Given the description of an element on the screen output the (x, y) to click on. 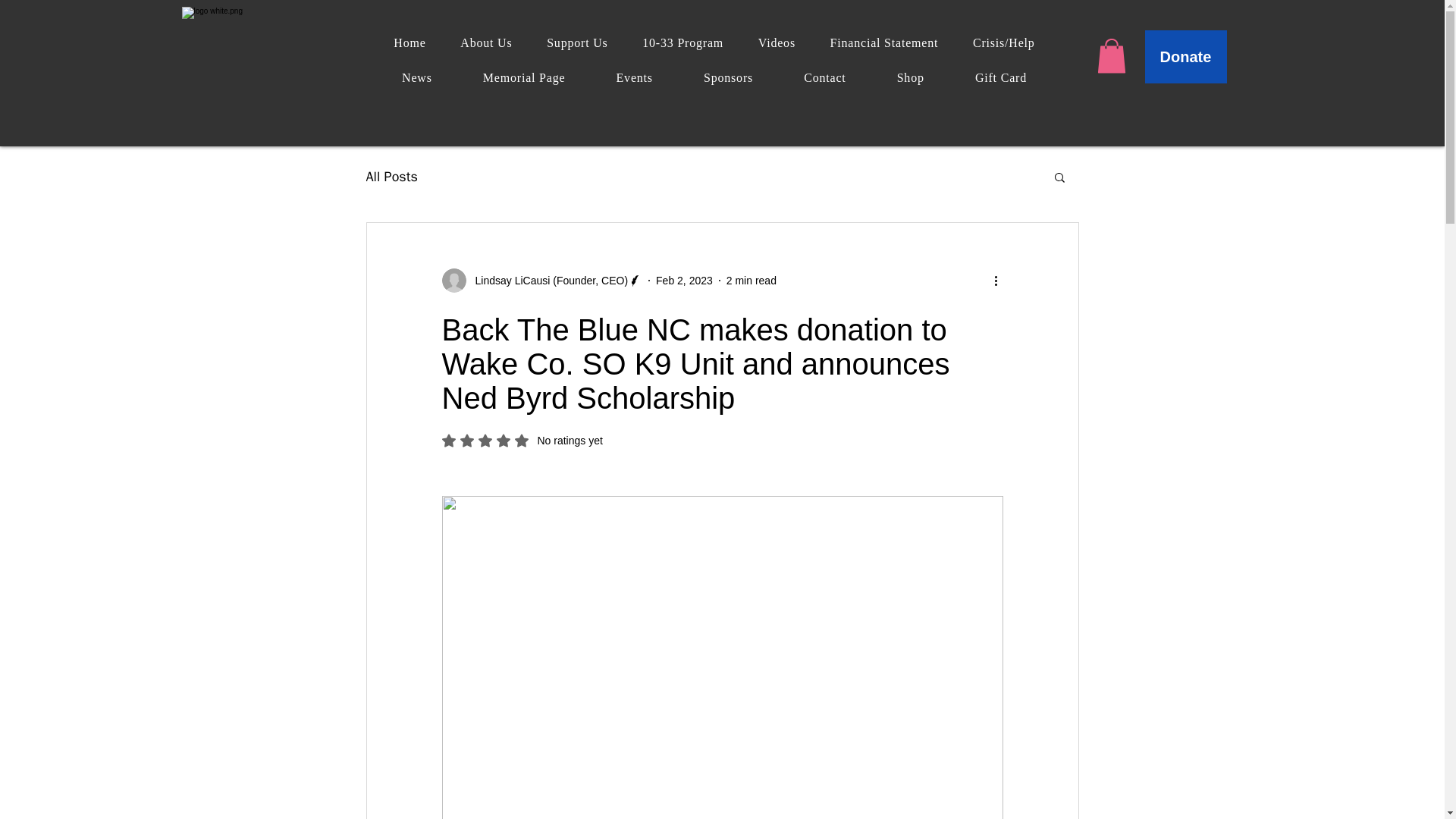
Gift Card (999, 77)
Home (409, 42)
Videos (776, 42)
About Us (485, 42)
Contact (824, 77)
Feb 2, 2023 (684, 280)
10-33 Program (682, 42)
Shop (910, 77)
2 min read (751, 280)
News (416, 77)
